Given the description of an element on the screen output the (x, y) to click on. 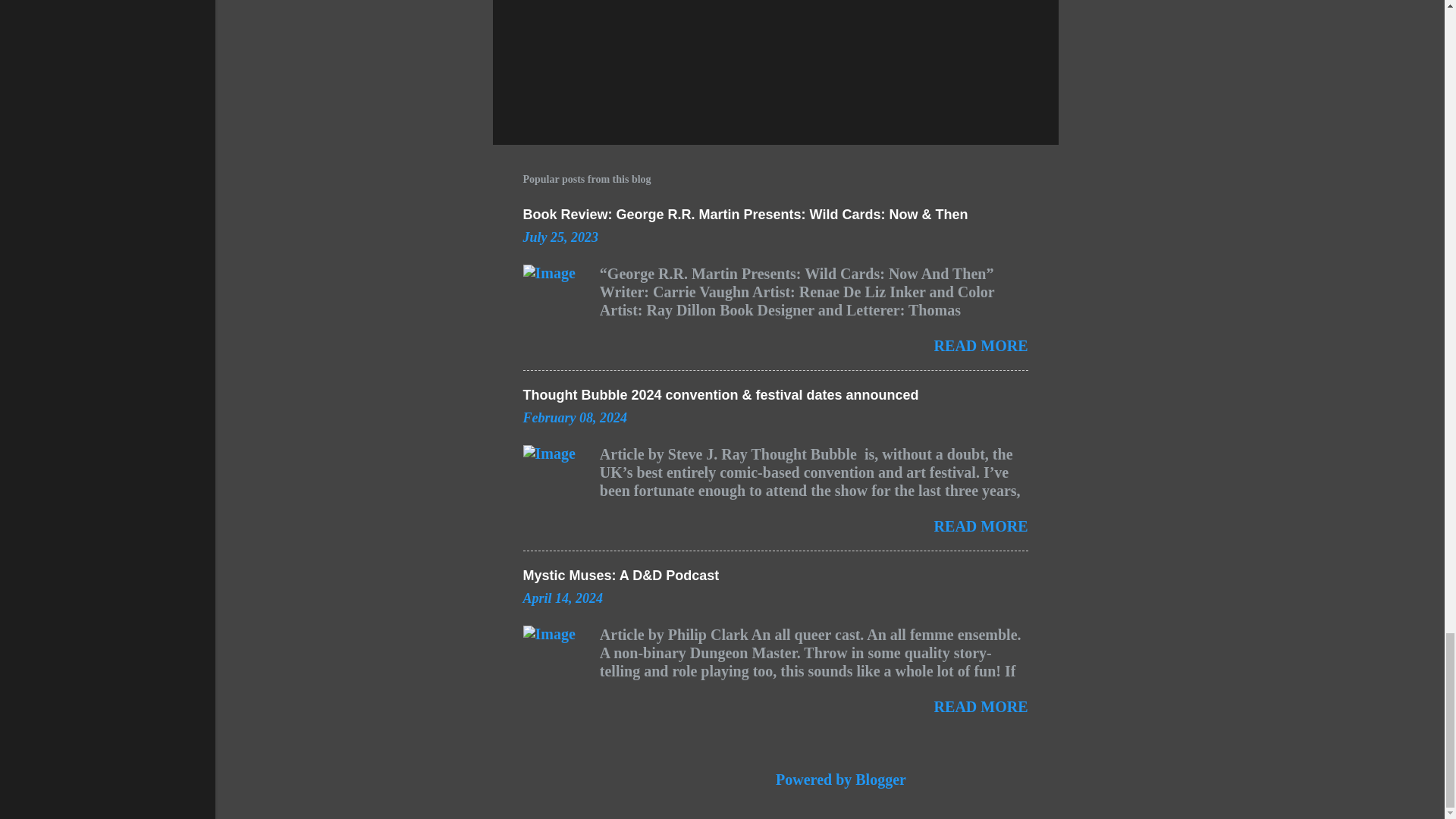
July 25, 2023 (560, 237)
